Given the description of an element on the screen output the (x, y) to click on. 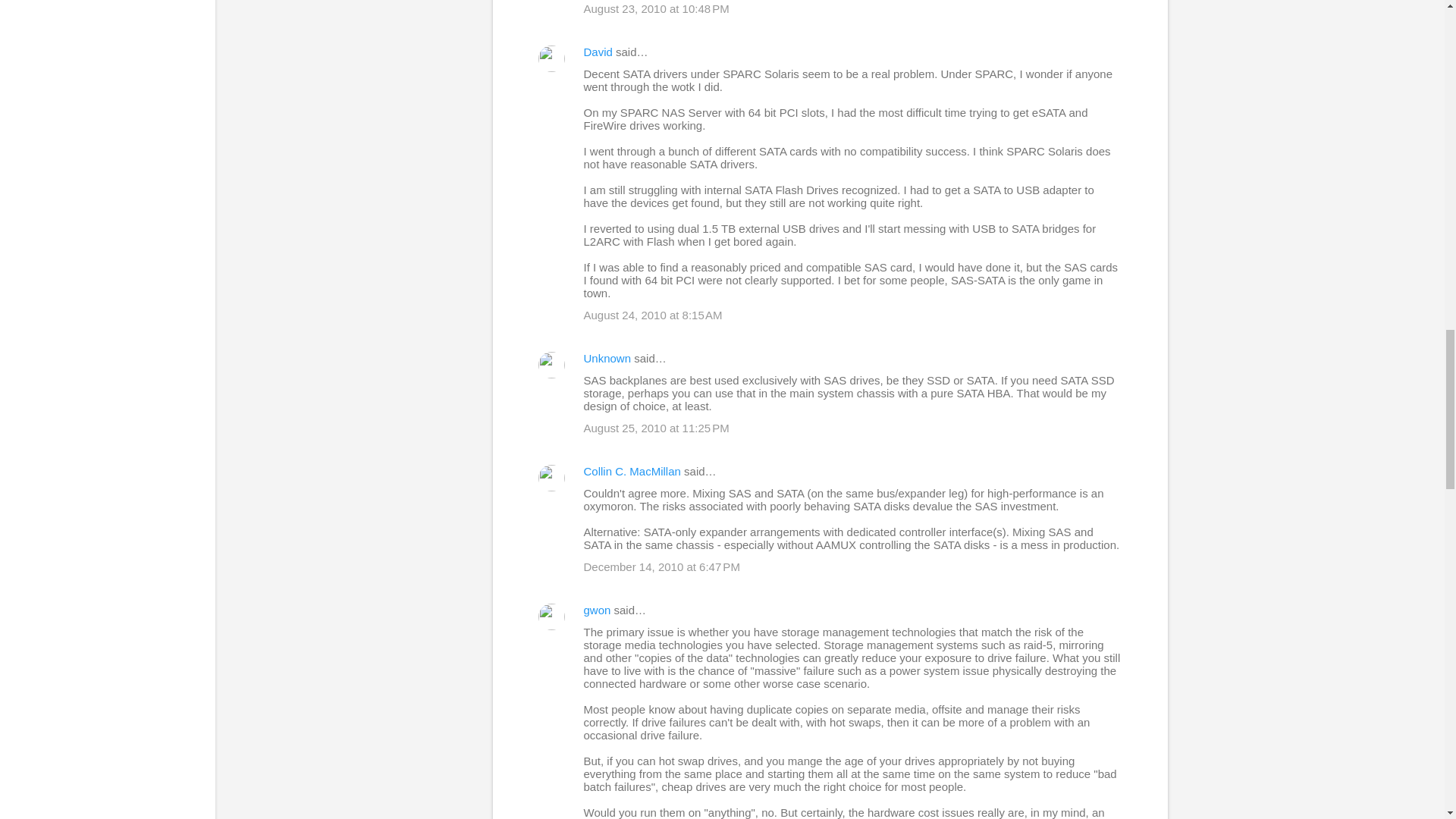
David (597, 51)
gwon (597, 609)
Collin C. MacMillan (632, 471)
Unknown (607, 358)
